Given the description of an element on the screen output the (x, y) to click on. 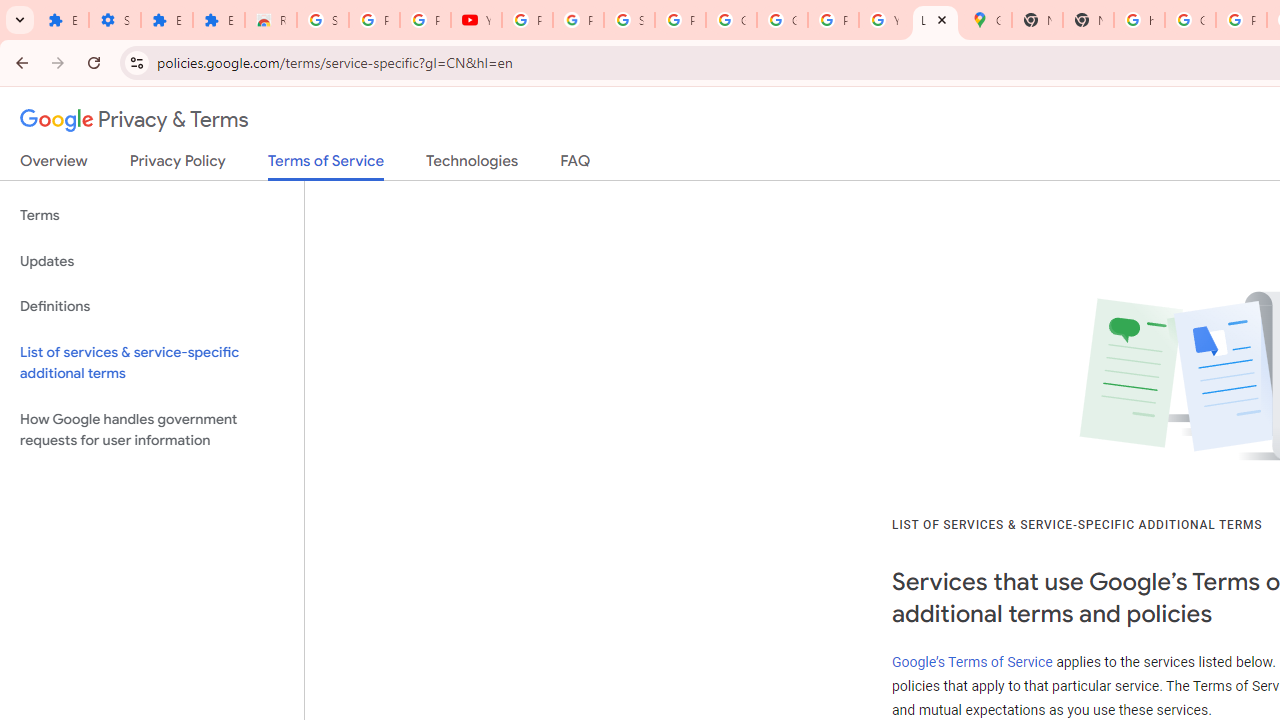
YouTube (884, 20)
https://scholar.google.com/ (1138, 20)
Extensions (166, 20)
Sign in - Google Accounts (323, 20)
Settings (114, 20)
Definitions (152, 306)
